Given the description of an element on the screen output the (x, y) to click on. 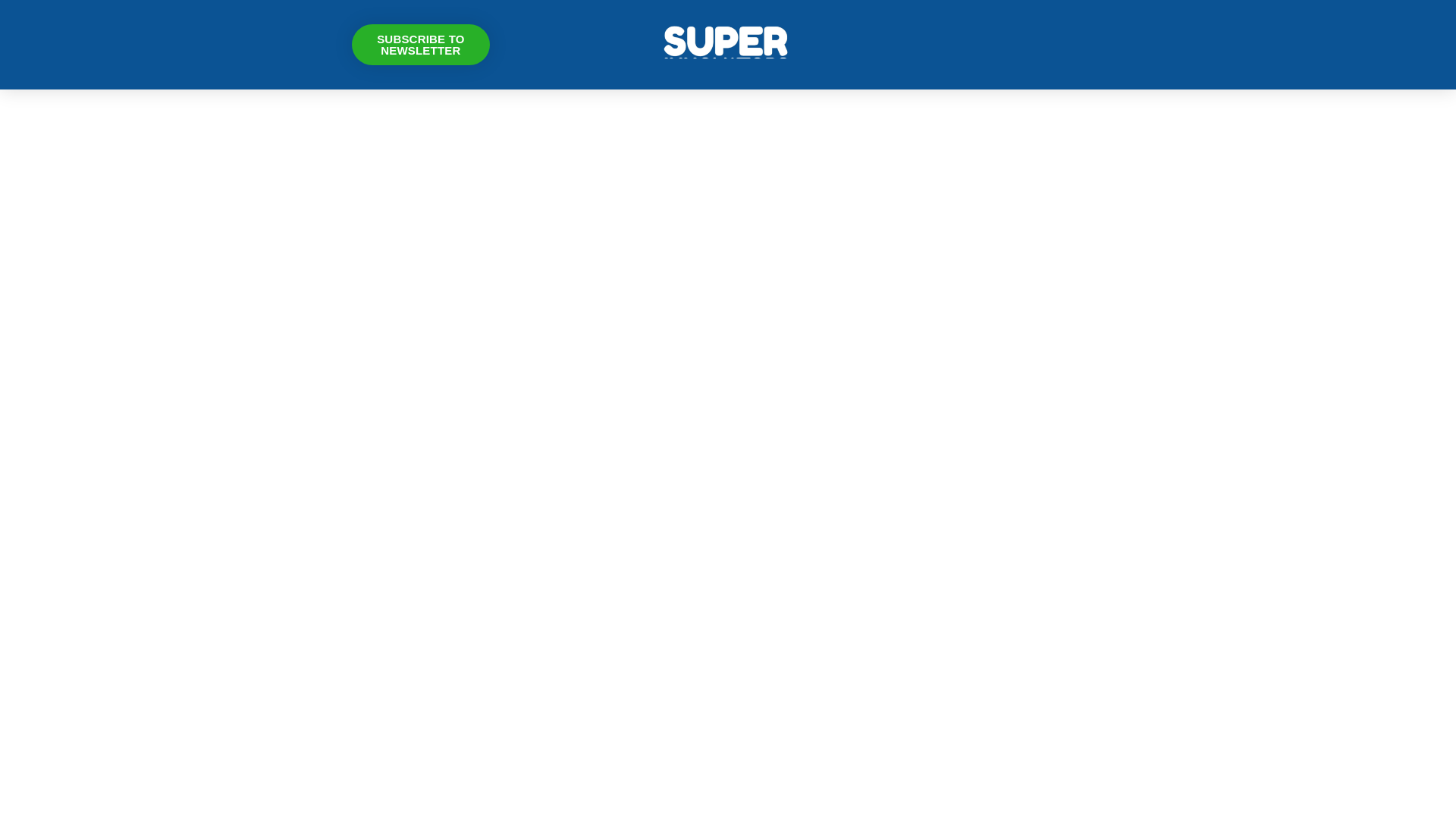
SUBSCRIBE TO NEWSLETTER (421, 44)
